Given the description of an element on the screen output the (x, y) to click on. 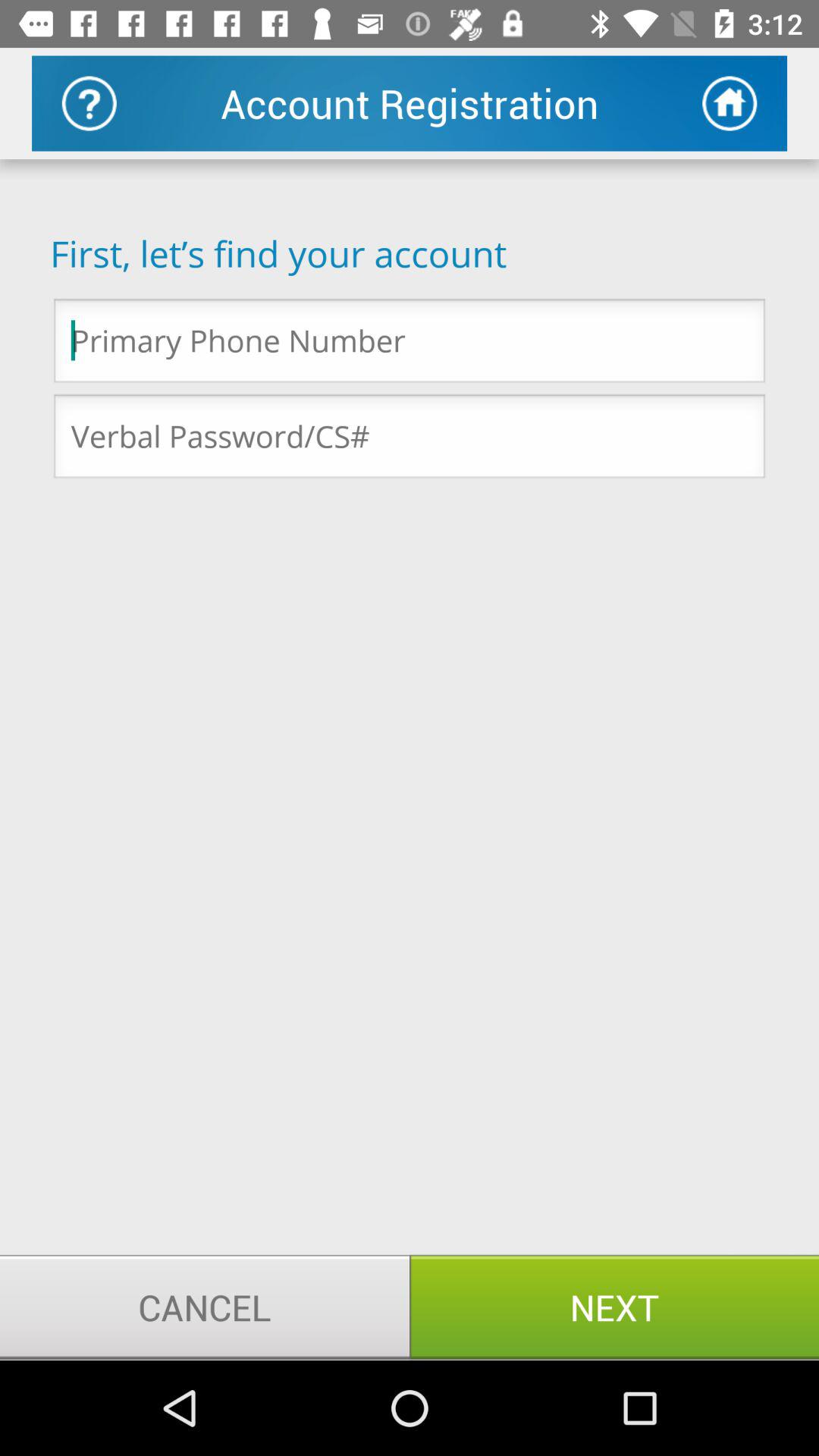
flip to the next (614, 1307)
